Given the description of an element on the screen output the (x, y) to click on. 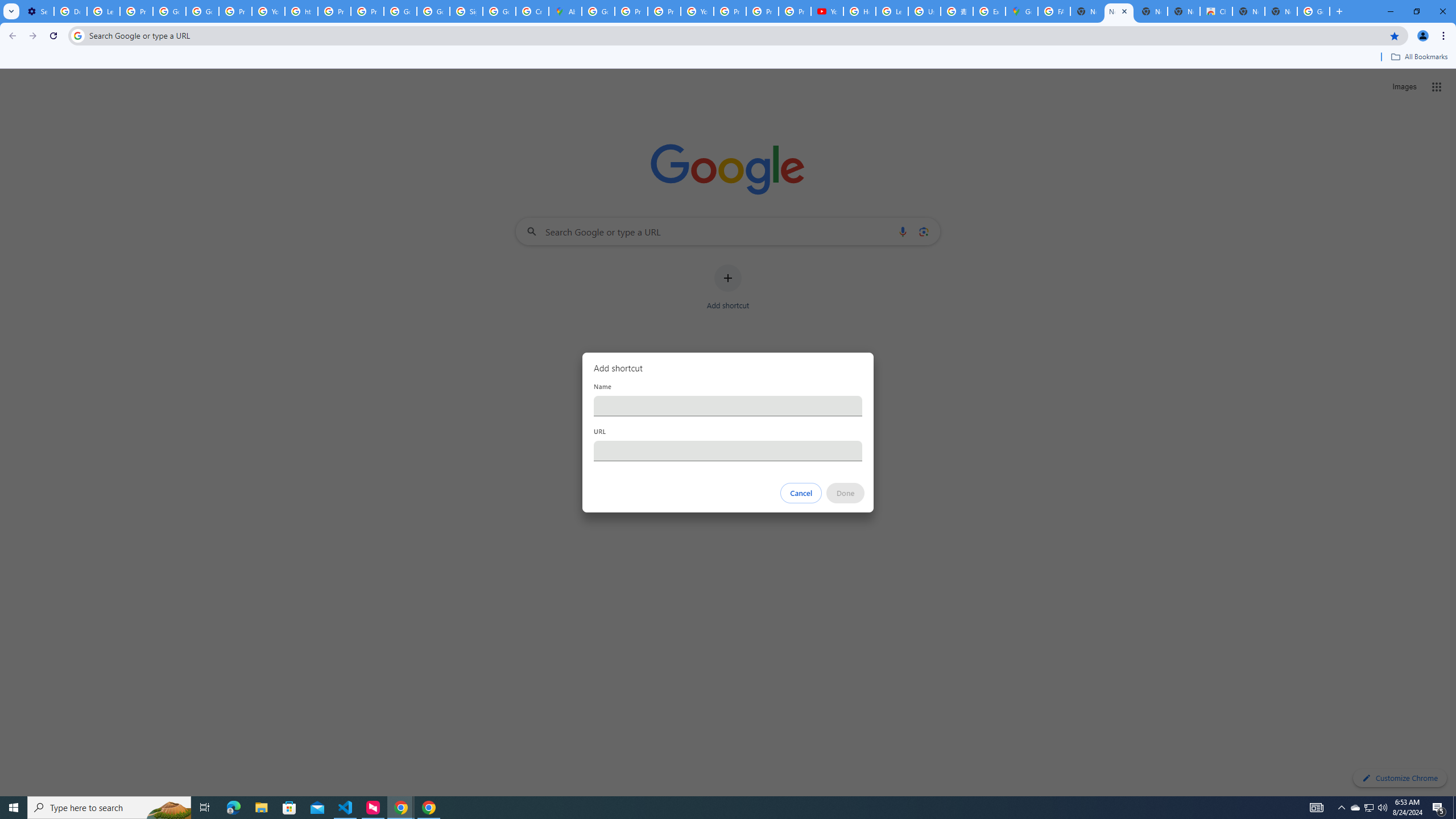
Privacy Help Center - Policies Help (631, 11)
Chrome Web Store (1216, 11)
Create your Google Account (532, 11)
YouTube (697, 11)
Delete photos & videos - Computer - Google Photos Help (70, 11)
Privacy Help Center - Policies Help (663, 11)
